Given the description of an element on the screen output the (x, y) to click on. 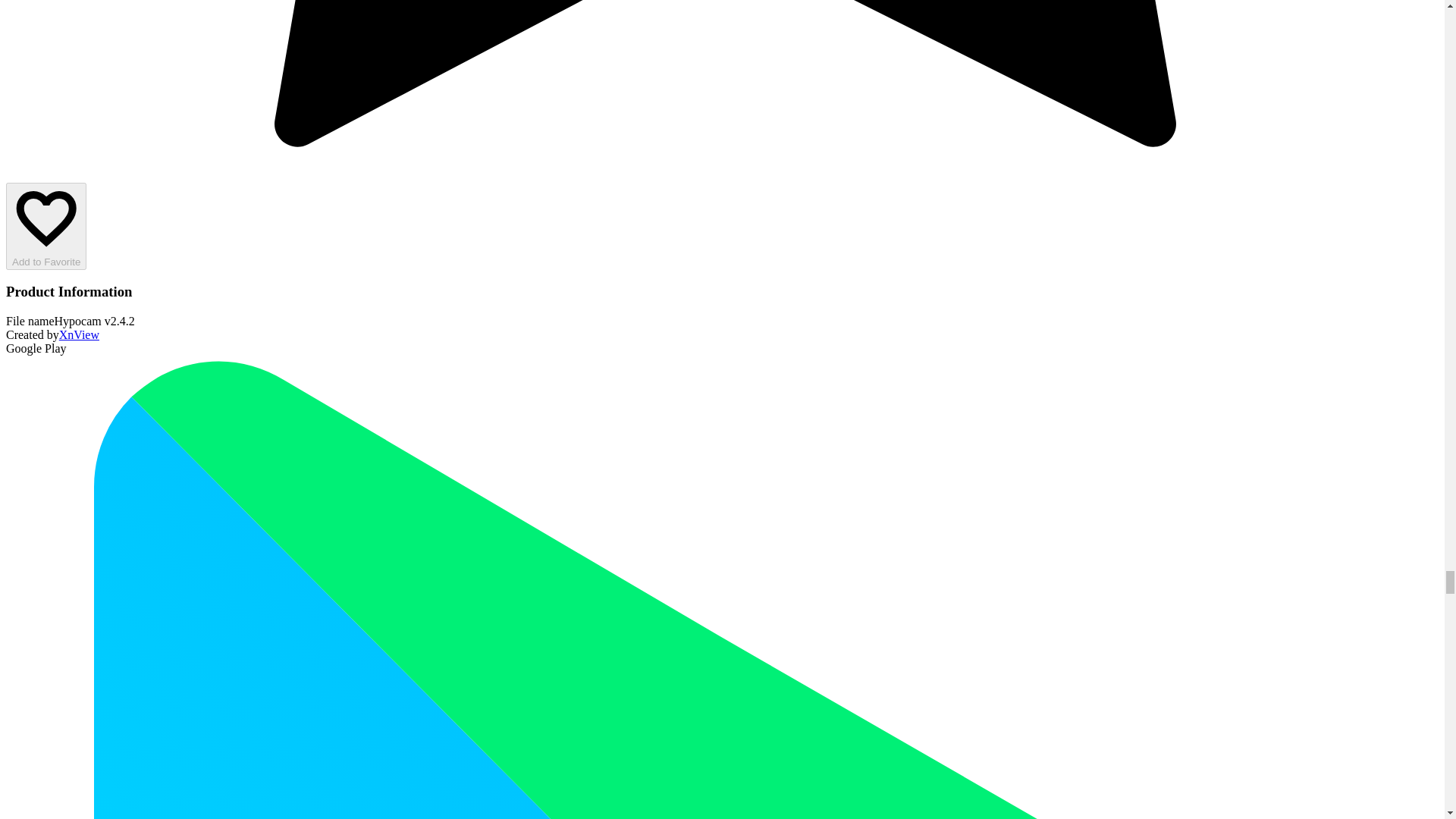
Add to Favorite (45, 225)
XnView (79, 334)
